Given the description of an element on the screen output the (x, y) to click on. 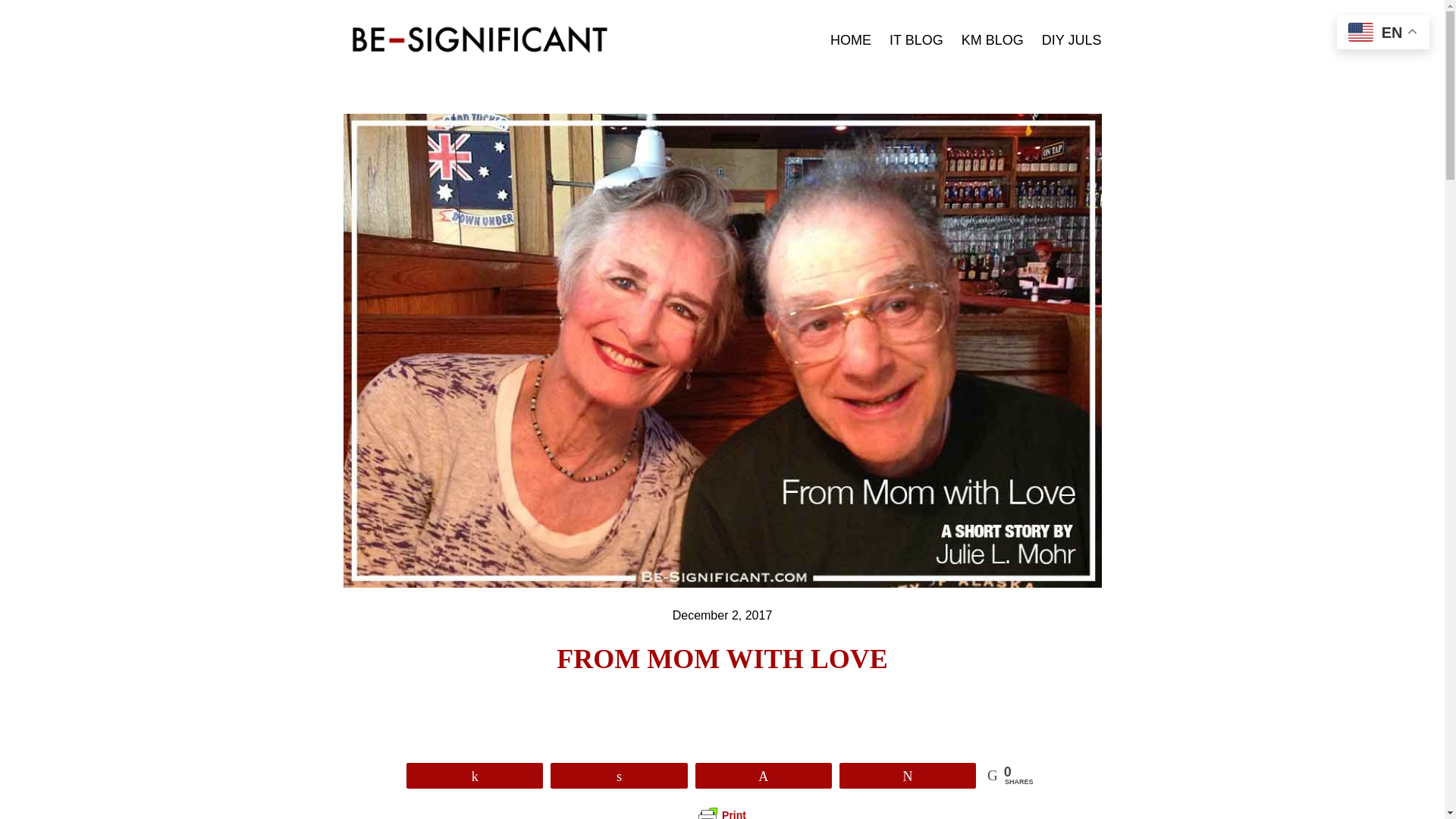
DIY JULS (1072, 40)
IT BLOG (916, 40)
KM BLOG (991, 40)
HOME (849, 40)
Print (721, 812)
